Given the description of an element on the screen output the (x, y) to click on. 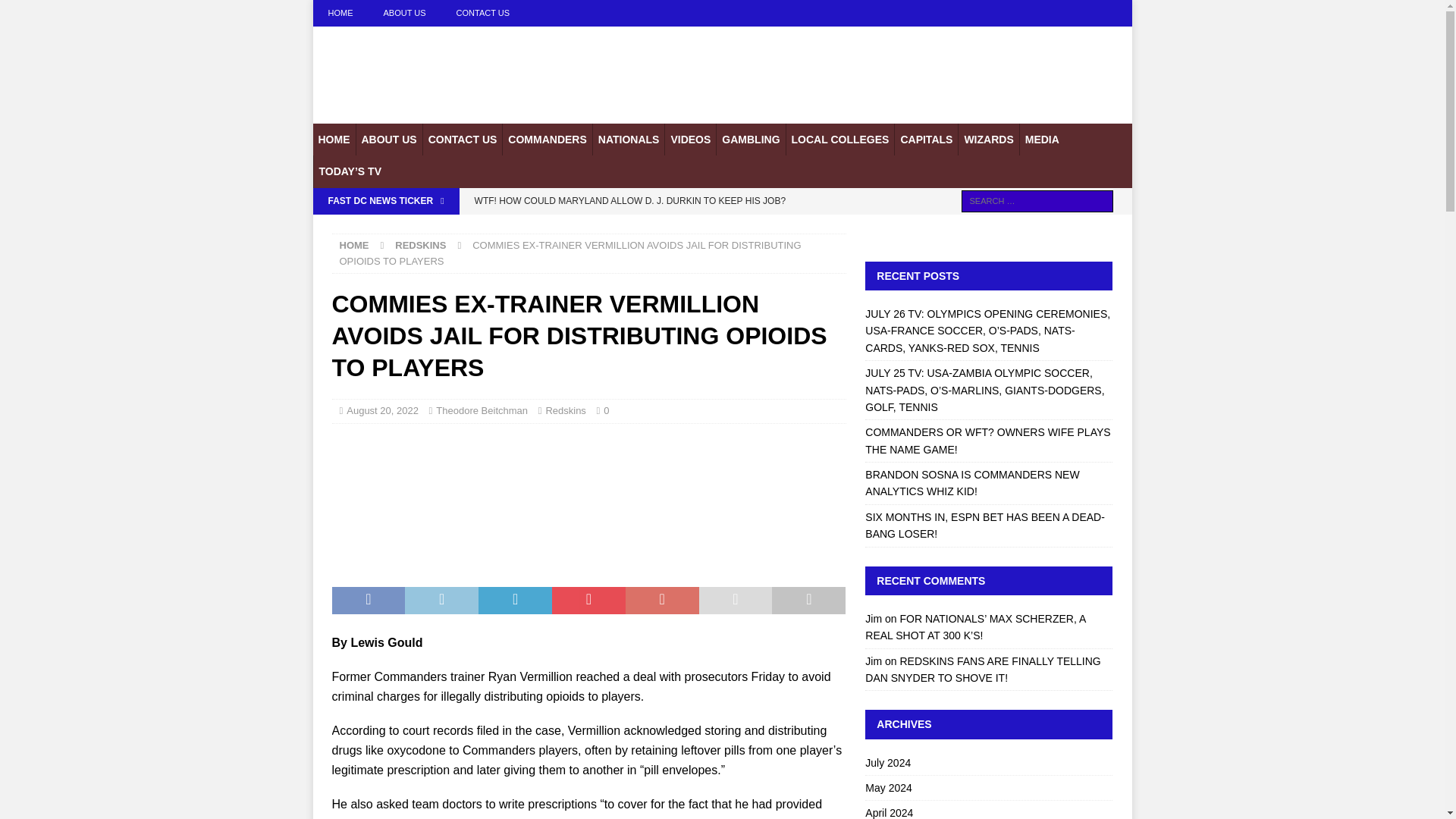
MEDIA (1041, 139)
WIZARDS (987, 139)
HOME (340, 13)
ABOUT US (404, 13)
WTF! HOW COULD MARYLAND ALLOW D. J. DURKIN TO KEEP HIS JOB? (655, 200)
HOME (334, 139)
HOME (354, 244)
REDSKINS (419, 244)
Redskins (564, 410)
OVI DOUBLES DOWN AND NISKANEN WINS IT FOR CAPS IN OT! (655, 226)
CAPITALS (925, 139)
ABOUT US (388, 139)
GAMBLING (750, 139)
CONTACT US (462, 139)
August 20, 2022 (382, 410)
